Given the description of an element on the screen output the (x, y) to click on. 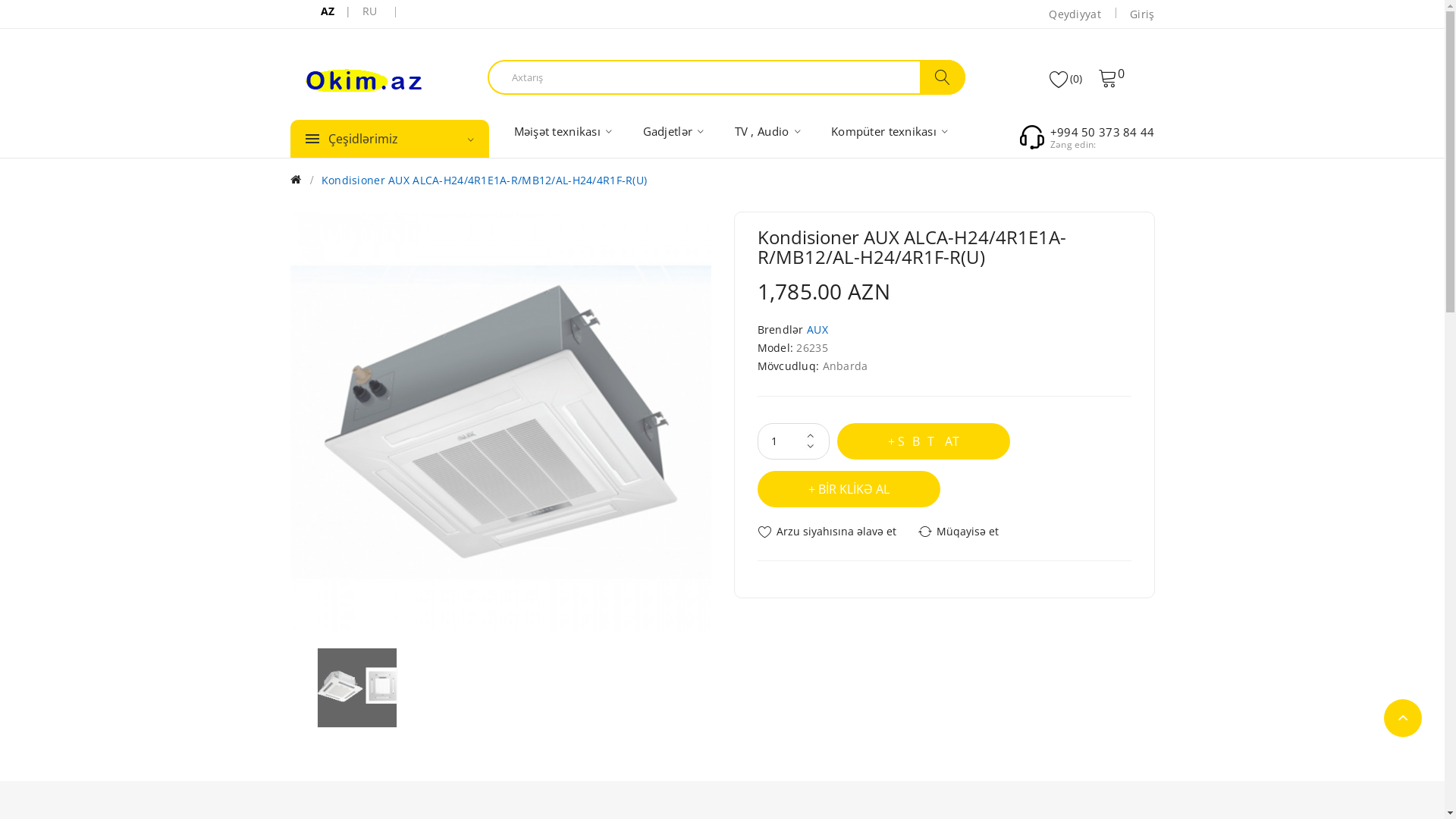
Kondisioner AUX ALCA-H24/4R1E1A-R/MB12/AL-H24/4R1F-R(U) Element type: hover (499, 421)
(0) Element type: text (1065, 77)
RU Element type: text (369, 10)
AUX Element type: text (817, 329)
TV , Audio Element type: text (767, 130)
Kondisioner AUX ALCA-H24/4R1E1A-R/MB12/AL-H24/4R1F-R(U) Element type: hover (356, 687)
Qeydiyyat Element type: text (1074, 13)
Kondisioner AUX ALCA-H24/4R1E1A-R/MB12/AL-H24/4R1F-R(U) Element type: text (483, 179)
0 Element type: text (1111, 76)
AZ Element type: text (327, 10)
